Given the description of an element on the screen output the (x, y) to click on. 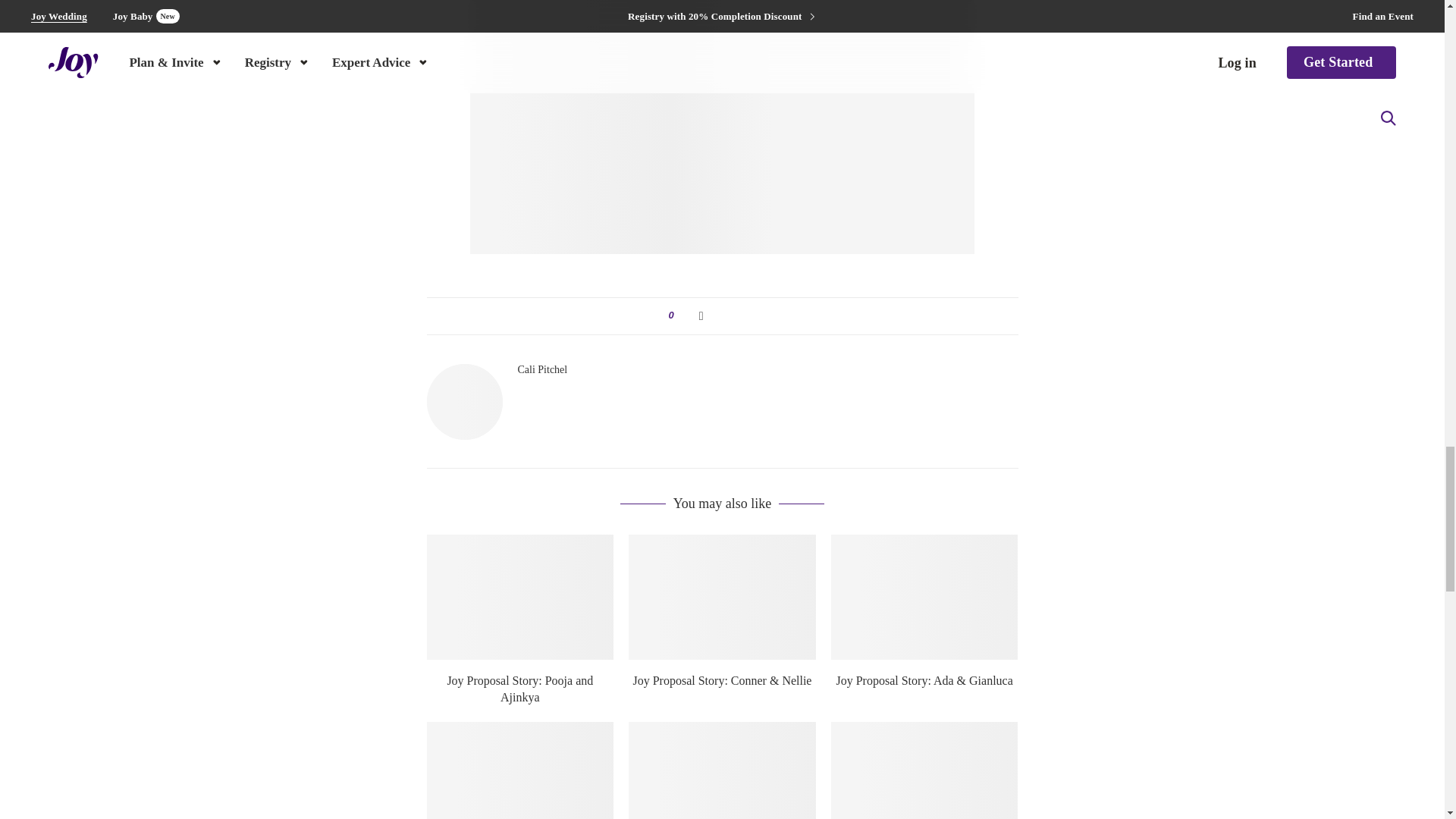
Joy Proposal Story: Pooja and Ajinkya (519, 596)
Author Cali Pitchel (541, 369)
